Given the description of an element on the screen output the (x, y) to click on. 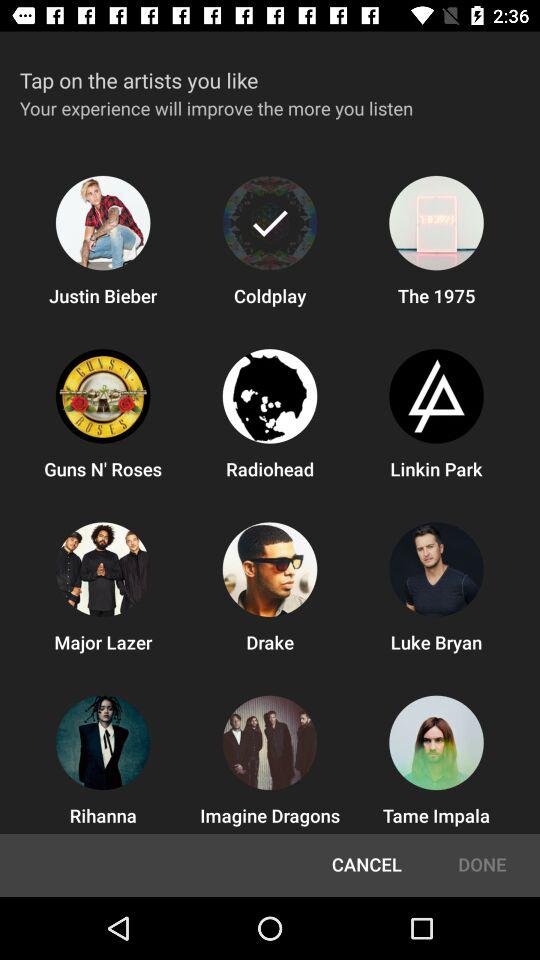
select the 6th icon (435, 396)
select major lazer logo (103, 569)
select from the second row second icon (269, 396)
select done (482, 864)
